Given the description of an element on the screen output the (x, y) to click on. 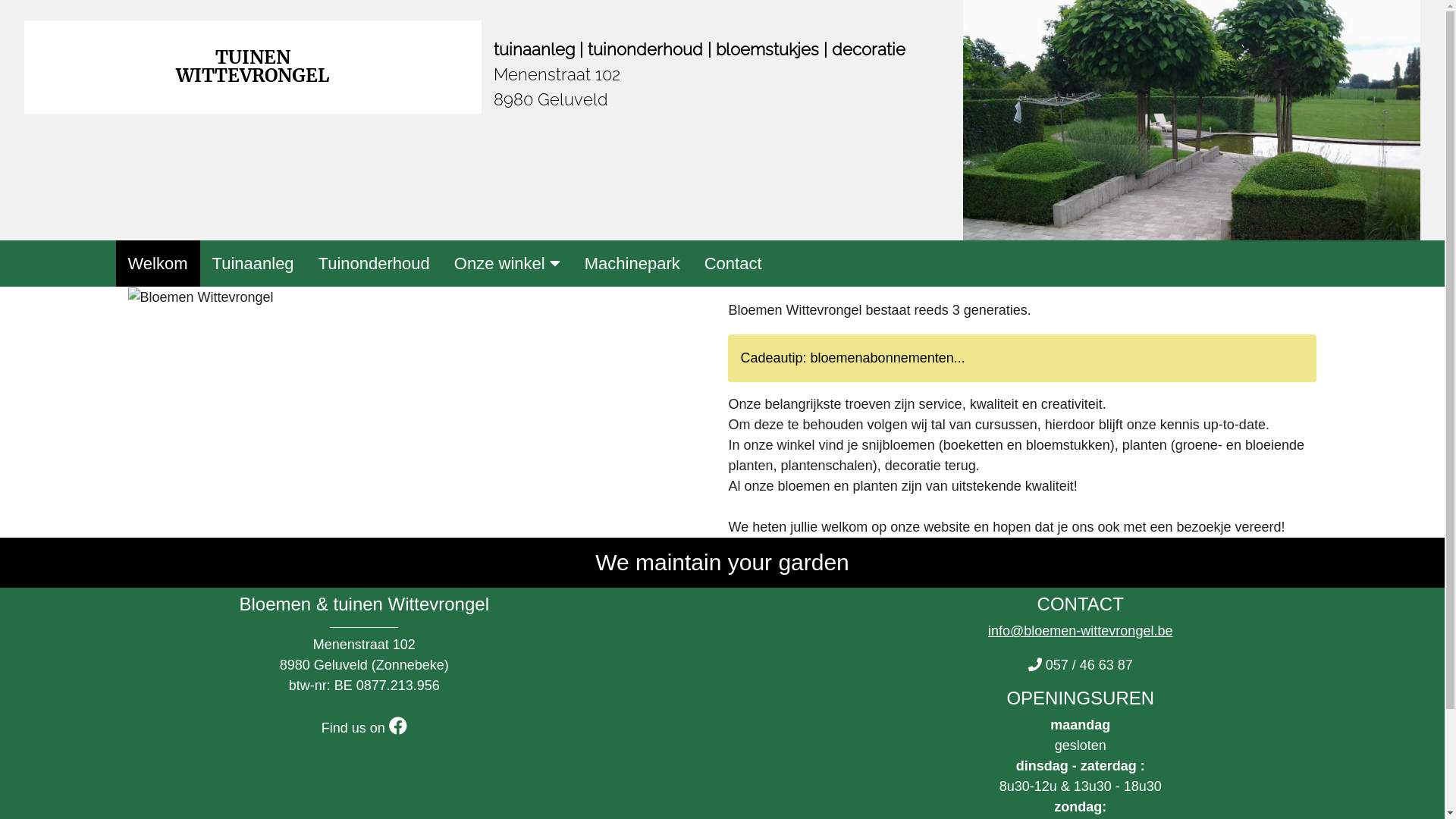
Contact Element type: text (733, 263)
info@bloemen-wittevrongel.be Element type: text (1080, 630)
Welkom Element type: text (157, 263)
Machinepark Element type: text (632, 263)
Tuinaanleg Element type: text (253, 263)
Tuinonderhoud Element type: text (374, 263)
Find us on Element type: text (364, 727)
Onze winkel Element type: text (507, 263)
